Given the description of an element on the screen output the (x, y) to click on. 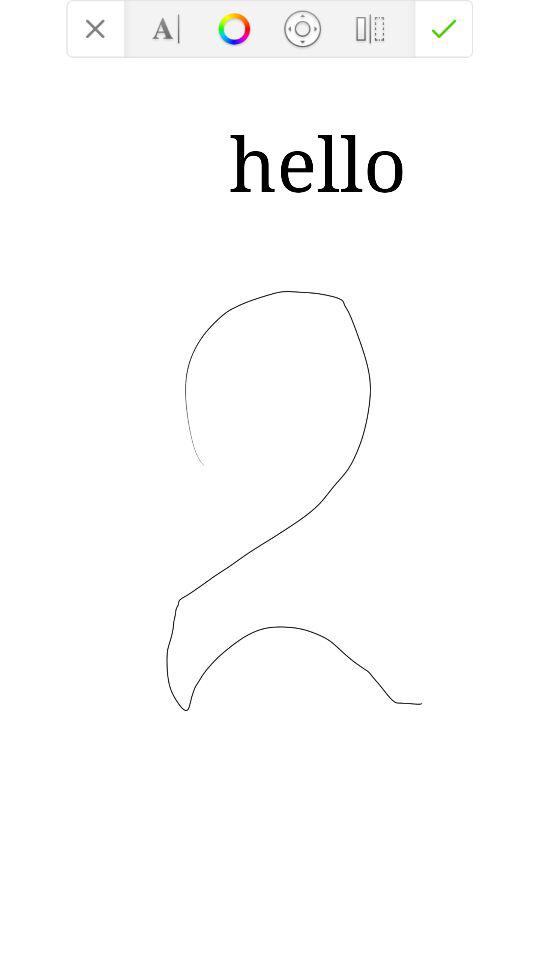
change text (166, 28)
